Given the description of an element on the screen output the (x, y) to click on. 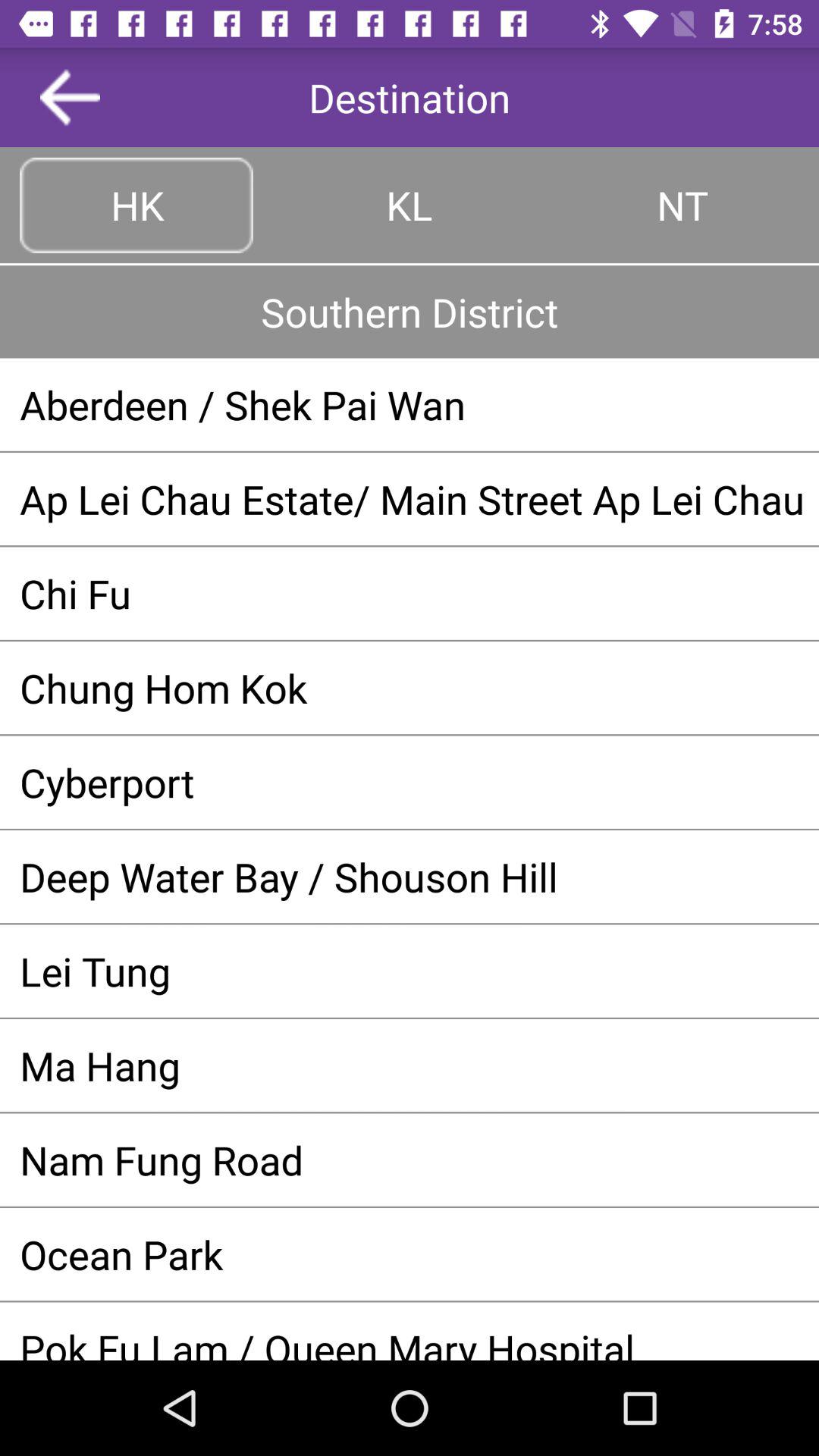
click on the button left to kl at top (136, 205)
